Given the description of an element on the screen output the (x, y) to click on. 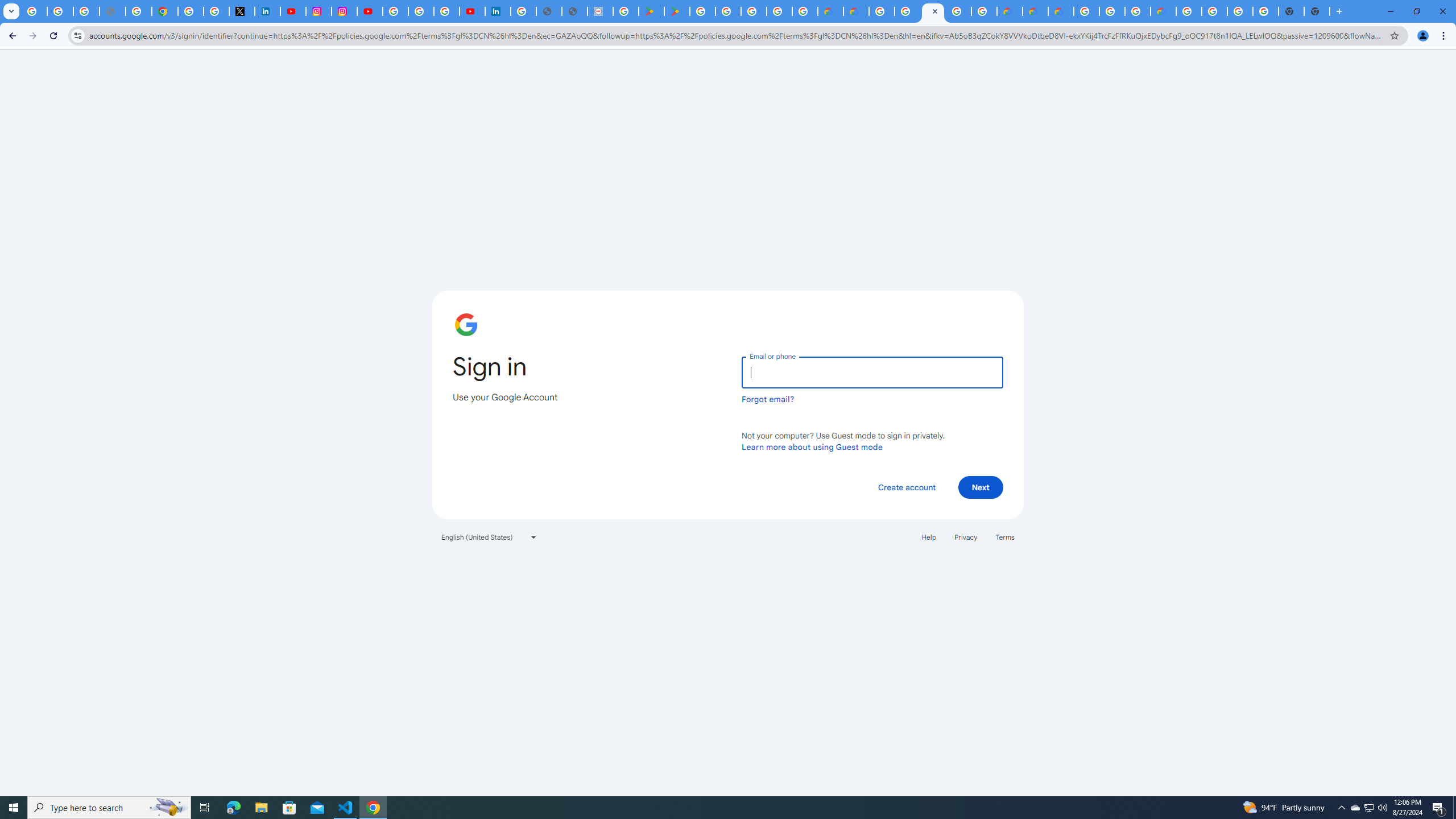
Create account (905, 486)
Browse Chrome as a guest - Computer - Google Chrome Help (1137, 11)
Google Cloud Platform (1213, 11)
Customer Care | Google Cloud (830, 11)
Identity verification via Persona | LinkedIn Help (497, 11)
YouTube Content Monetization Policies - How YouTube Works (293, 11)
English (United States) (489, 536)
Google Cloud Platform (881, 11)
